Given the description of an element on the screen output the (x, y) to click on. 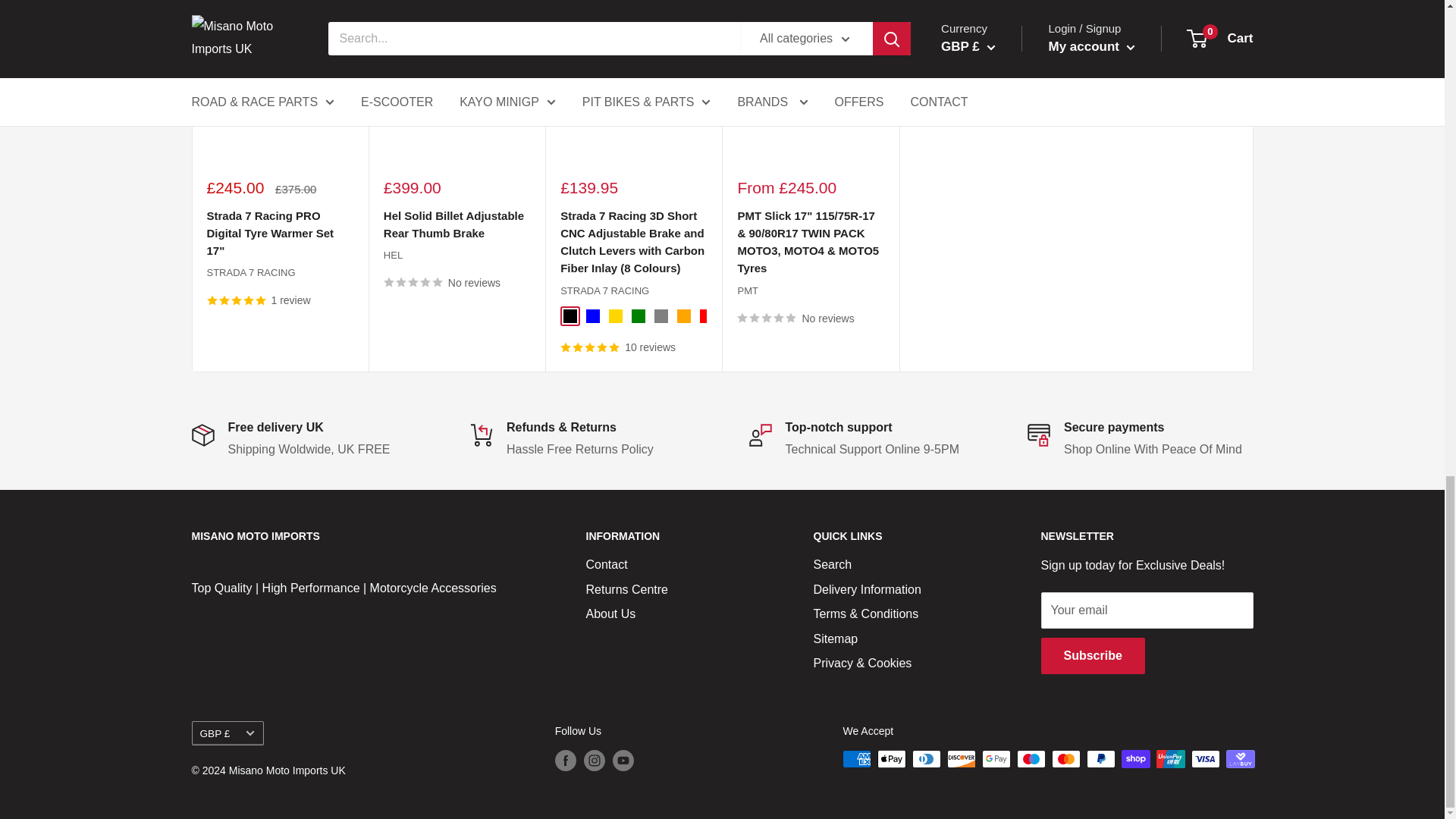
Green (638, 315)
Blue (592, 315)
Orange (683, 315)
Gold (615, 315)
Black (569, 315)
Grey (660, 315)
Red (706, 315)
